Given the description of an element on the screen output the (x, y) to click on. 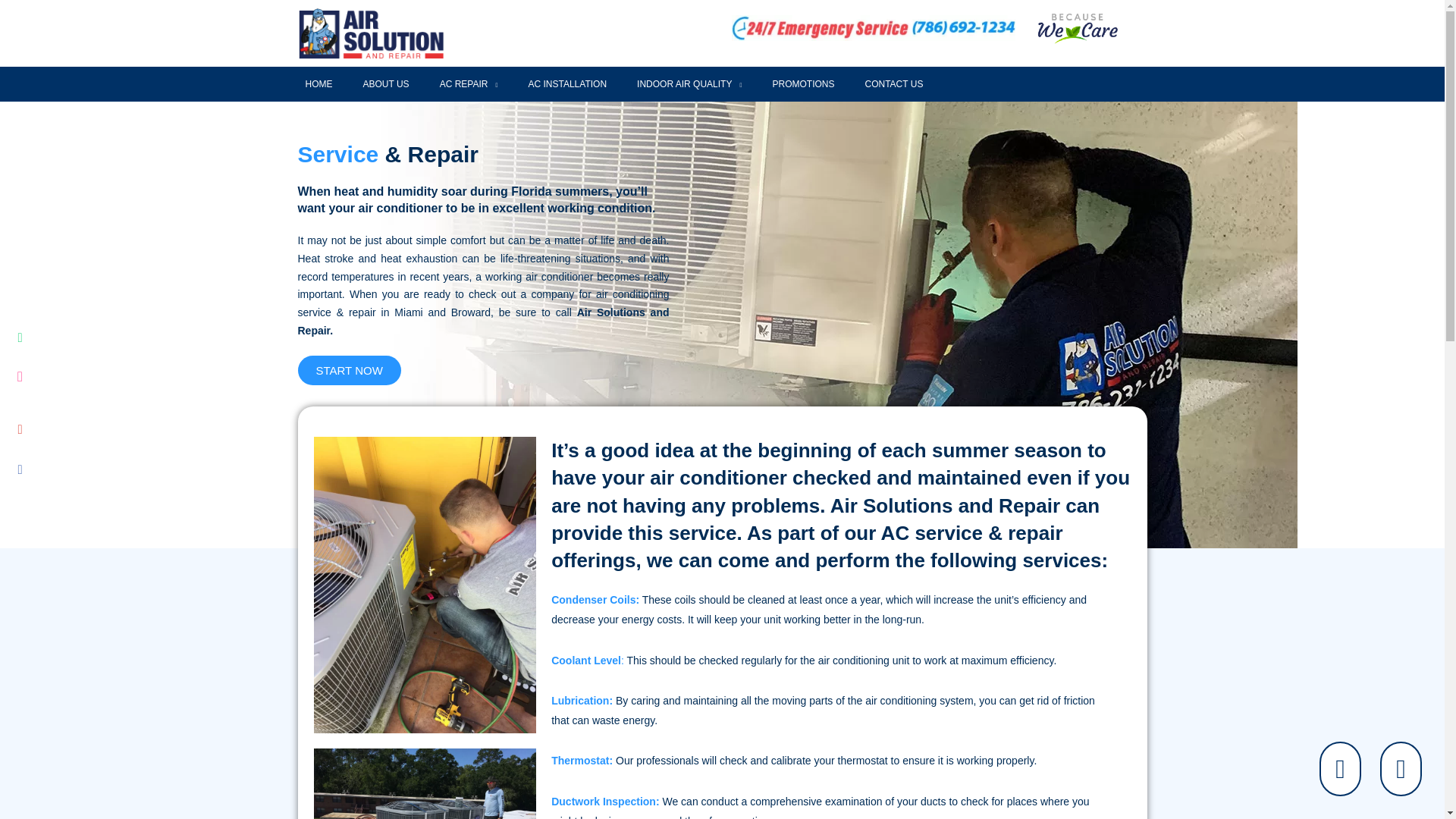
AC REPAIR (469, 83)
INDOOR AIR QUALITY (689, 83)
HOME (318, 83)
CONTACT US (892, 83)
PROMOTIONS (802, 83)
ABOUT US (385, 83)
AC INSTALLATION (566, 83)
